Given the description of an element on the screen output the (x, y) to click on. 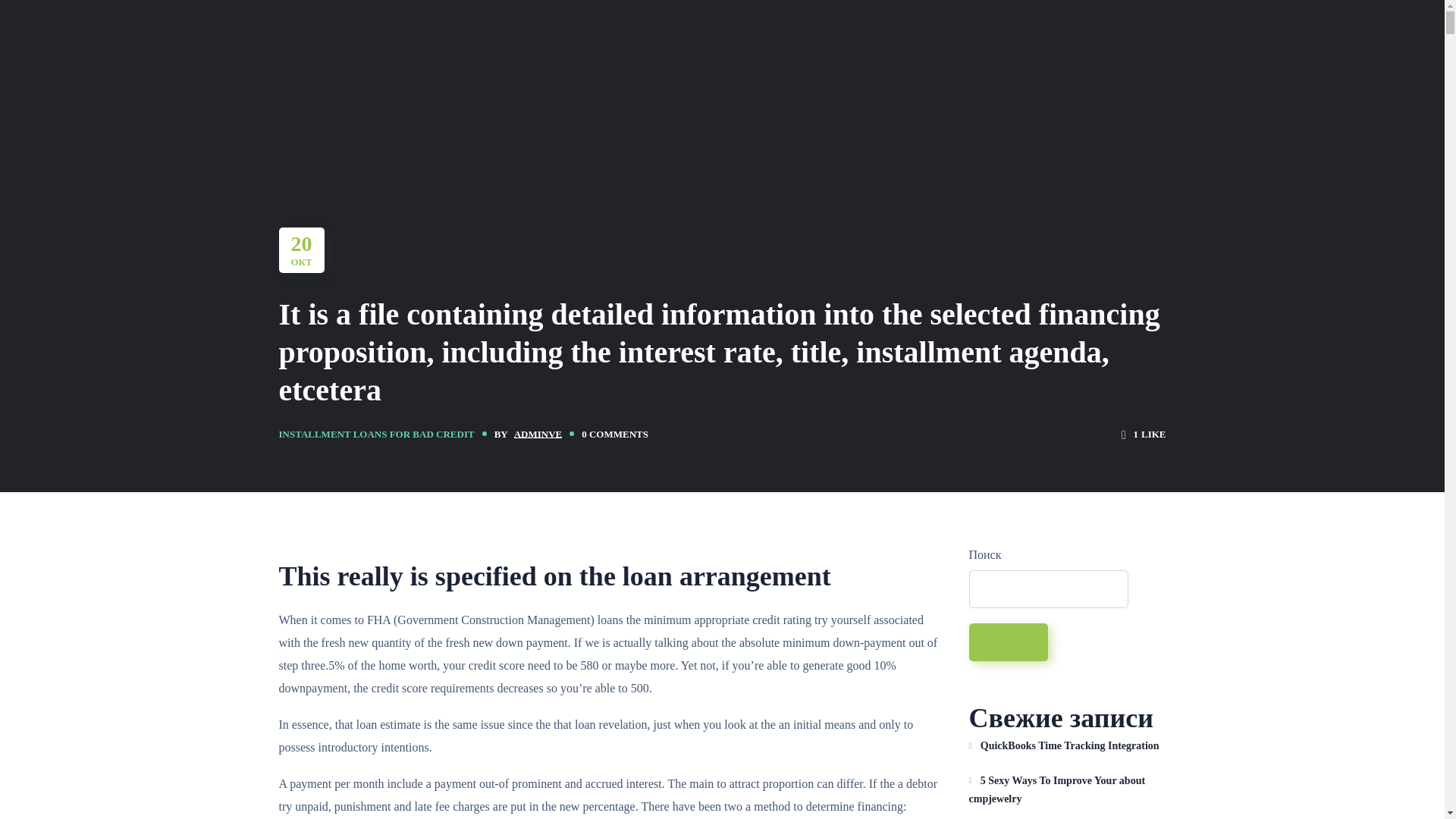
5 Sexy Ways To Improve Your about cmpjewelry (1067, 790)
0 COMMENTS (613, 434)
Leave a reply (613, 434)
ADMINVE (537, 433)
INSTALLMENT LOANS FOR BAD CREDIT (376, 433)
1 LIKE (1143, 433)
Like (1143, 433)
QuickBooks Time Tracking Integration (1067, 746)
